Given the description of an element on the screen output the (x, y) to click on. 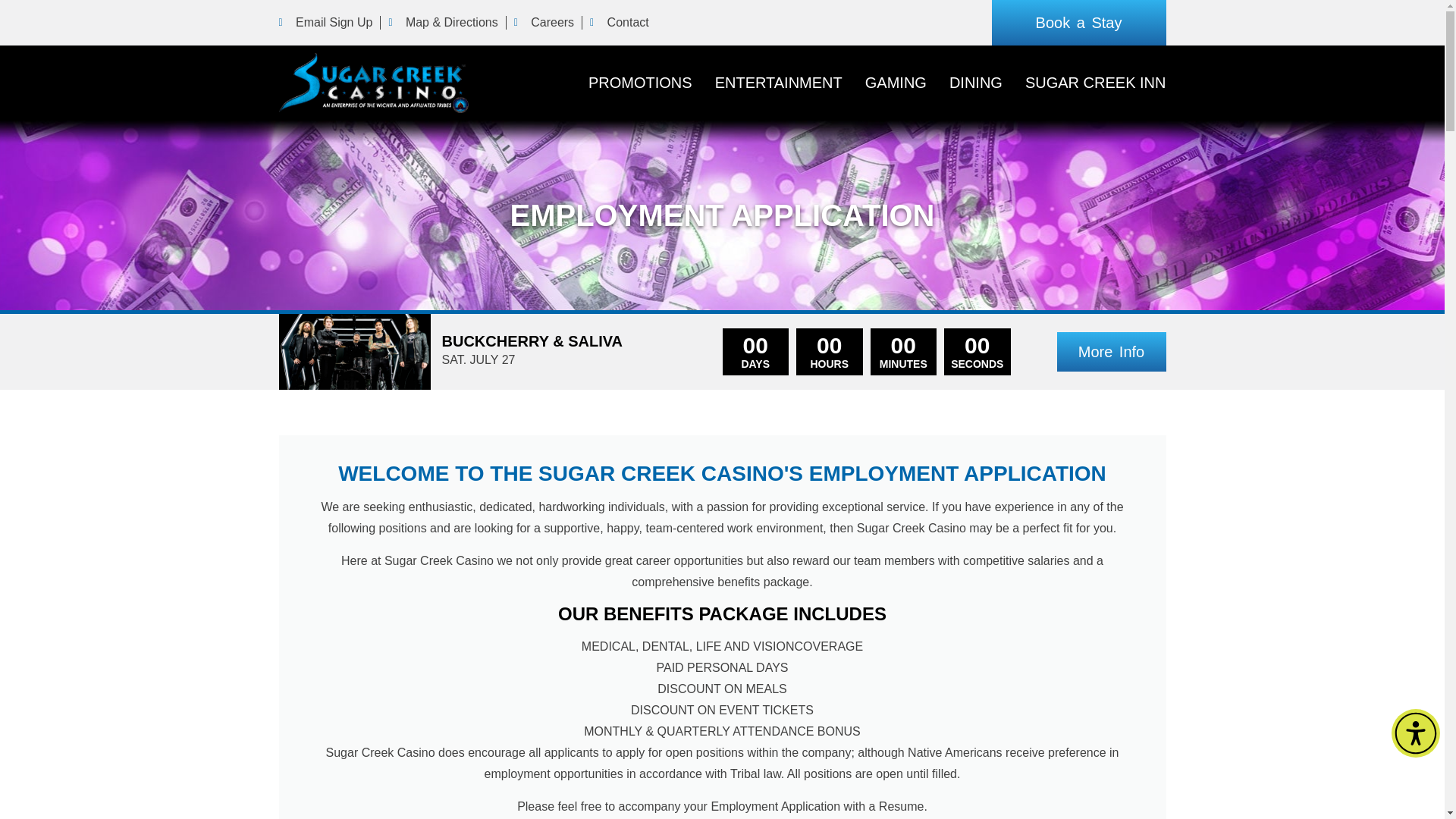
Book a Stay (1078, 22)
SUGAR CREEK INN (1095, 82)
ENTERTAINMENT (778, 82)
PROMOTIONS (640, 82)
GAMING (895, 82)
Careers (543, 22)
Accessibility Menu (1415, 733)
DINING (976, 82)
Email Sign Up (325, 22)
Contact (619, 22)
